Given the description of an element on the screen output the (x, y) to click on. 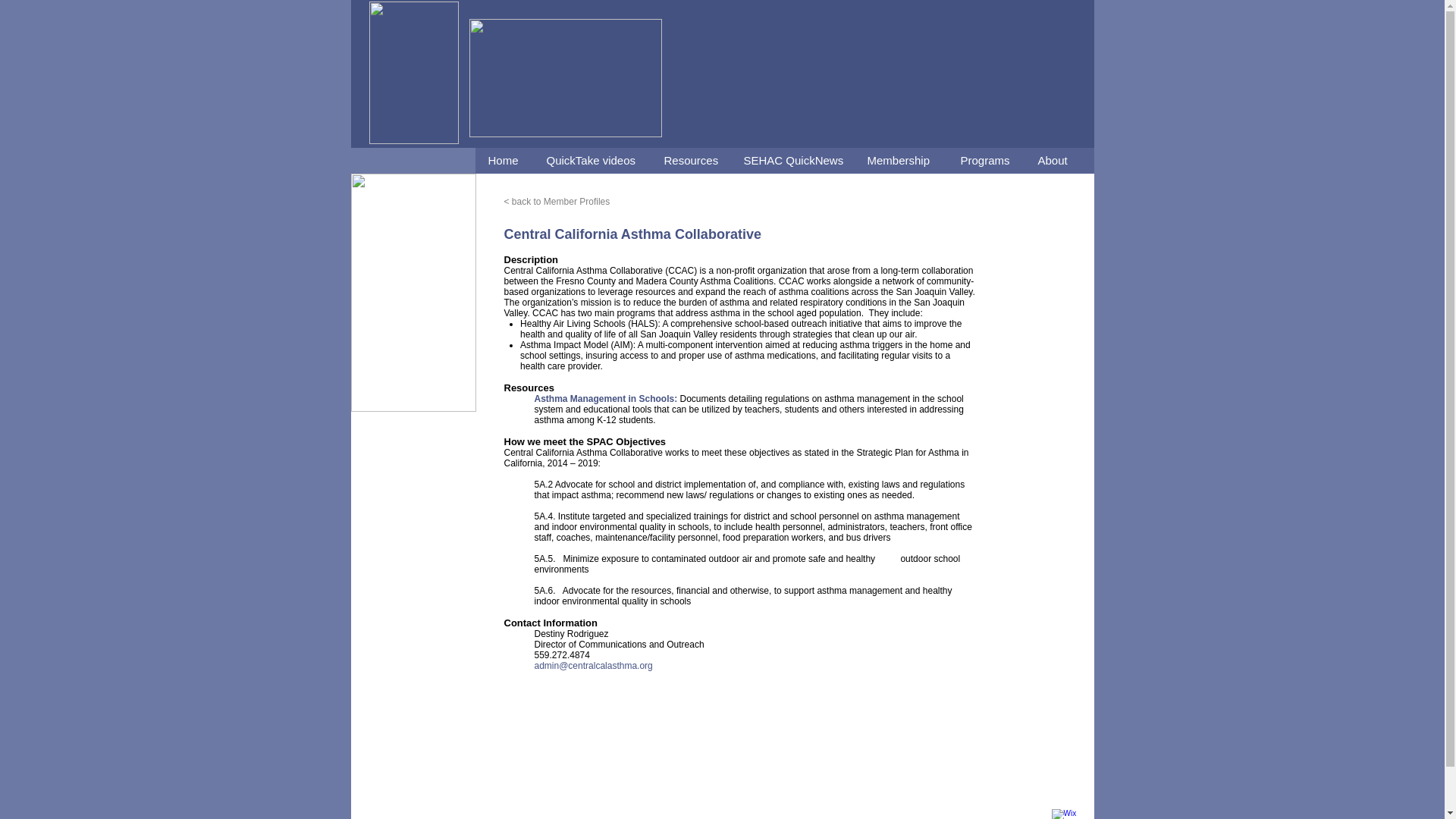
Resources (690, 160)
QuickTake videos (590, 160)
SEHAC QuickNews (791, 160)
Asthma Management in Schools: (606, 398)
Membership (900, 160)
Home (503, 160)
